Given the description of an element on the screen output the (x, y) to click on. 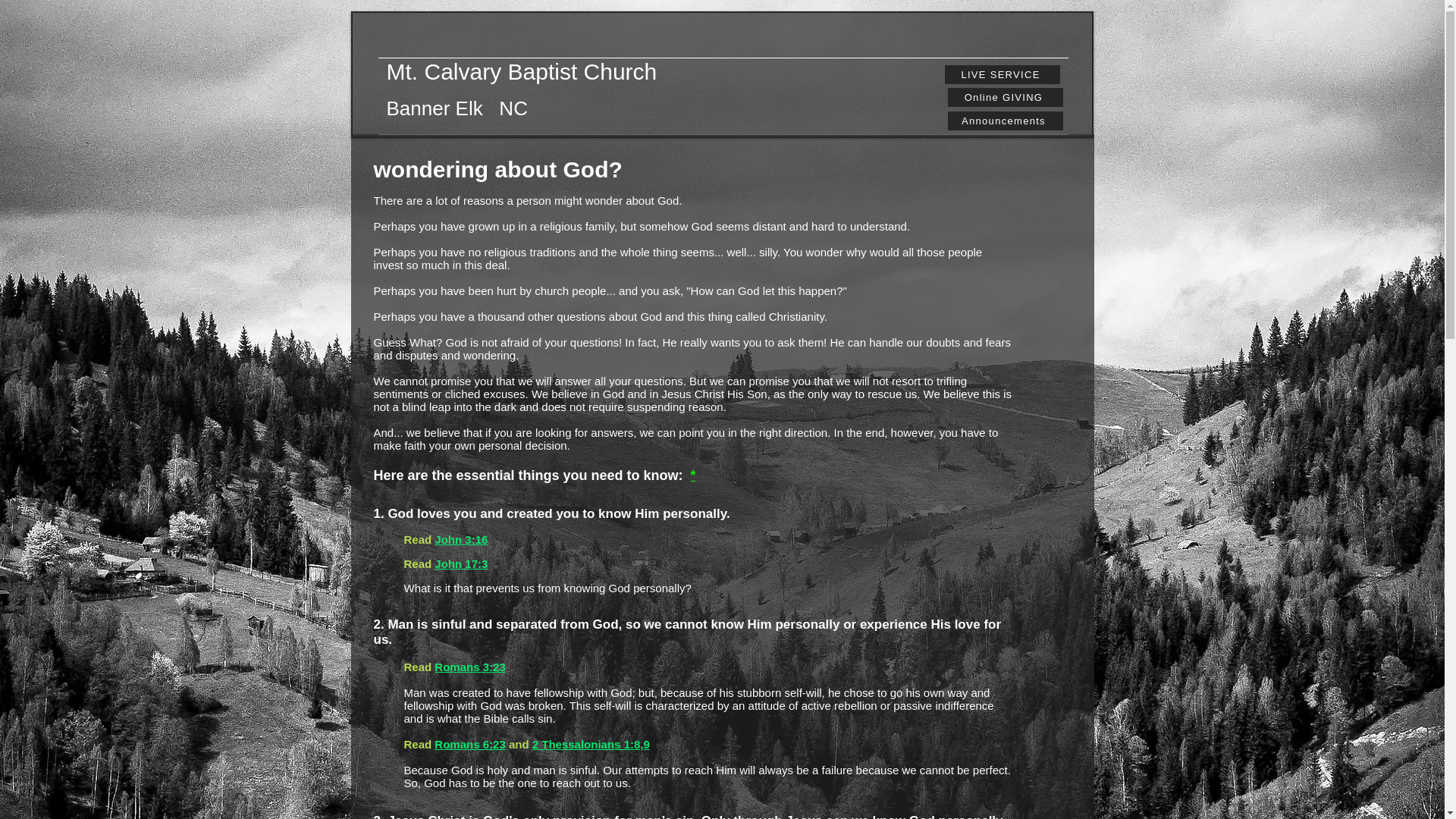
2 Thessalonians 1:8,9 (590, 744)
Announcements (1004, 120)
Romans 6:23 (469, 744)
John 17:3 (460, 564)
Romans 3:23 (469, 666)
Online GIVING (1004, 97)
LIVE SERVICE (1001, 74)
John 3:16 (460, 539)
